Given the description of an element on the screen output the (x, y) to click on. 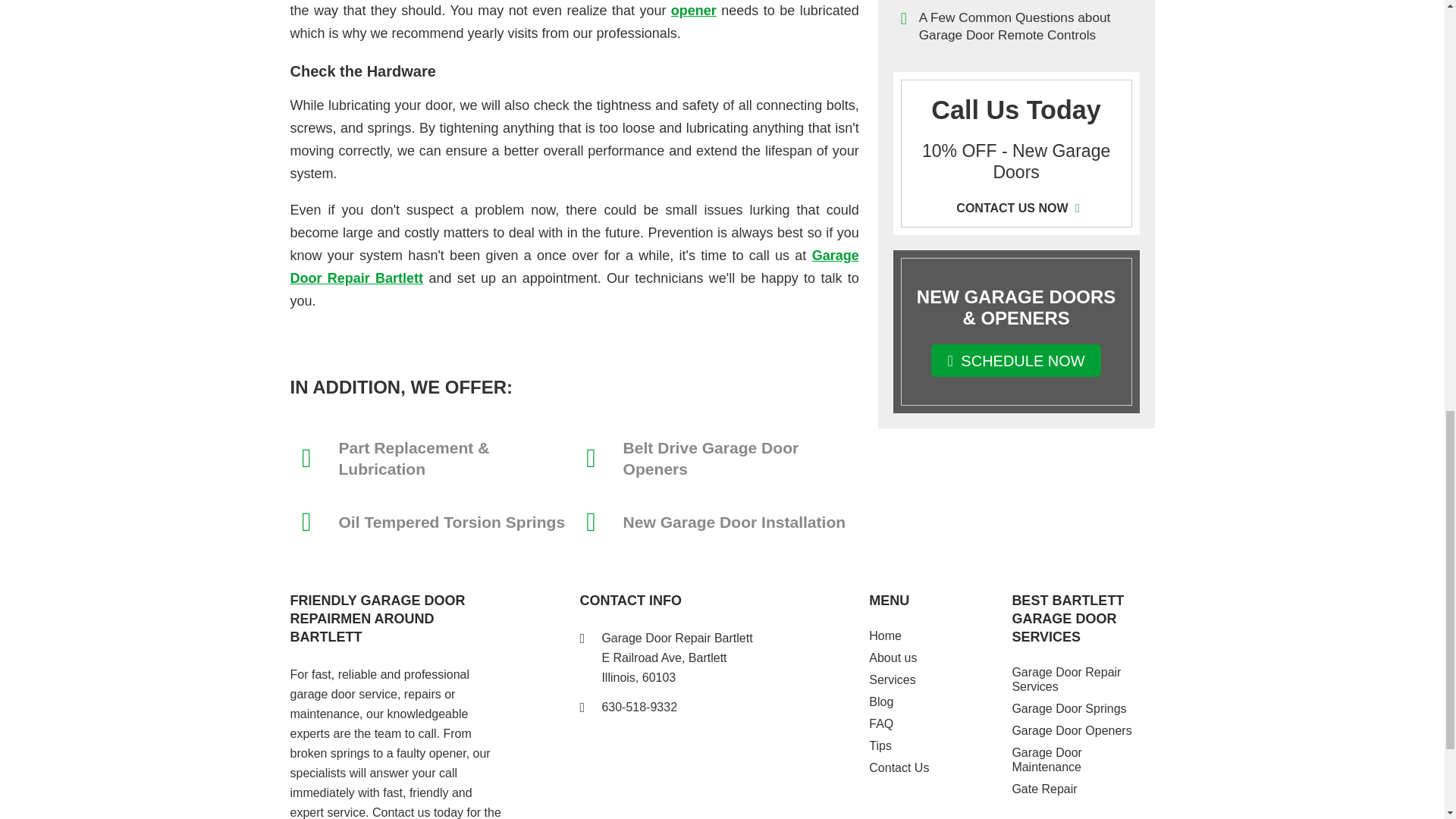
SCHEDULE NOW (1015, 359)
Garage Door Repair Bartlett (574, 266)
CONTACT US NOW (1015, 207)
opener (693, 10)
Garage Door Repair Bartlett (574, 266)
Garage door opener (693, 10)
A Few Common Questions about Garage Door Remote Controls (1016, 26)
